Given the description of an element on the screen output the (x, y) to click on. 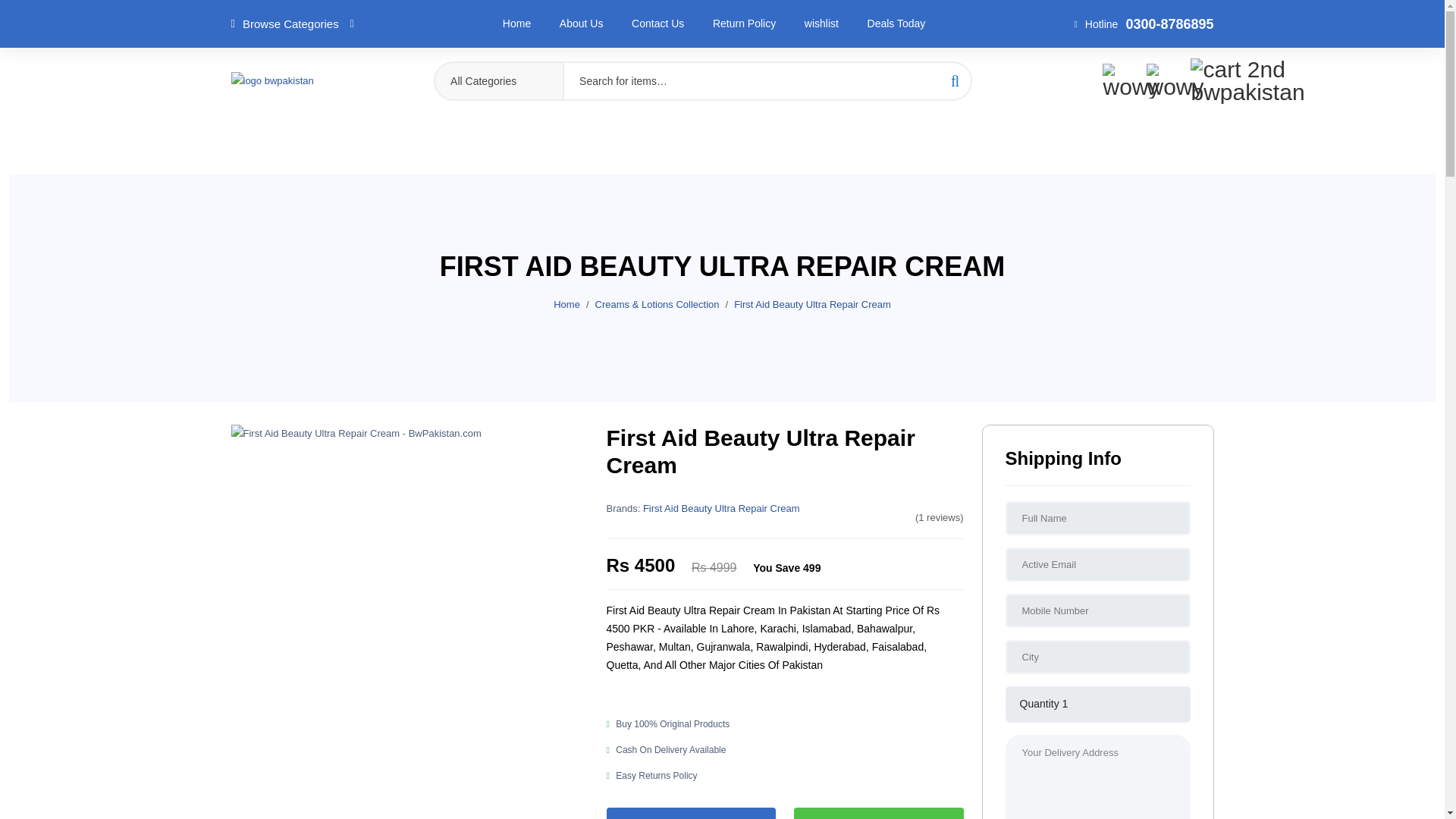
Return Policy (744, 22)
CONTACT US (256, 15)
Browse Categories (291, 24)
Deals Today (896, 22)
TRACK YOUR ORDER (350, 15)
SIGN UP (1195, 15)
LOG IN (1142, 15)
Contact Us (657, 22)
About Us (581, 22)
